Given the description of an element on the screen output the (x, y) to click on. 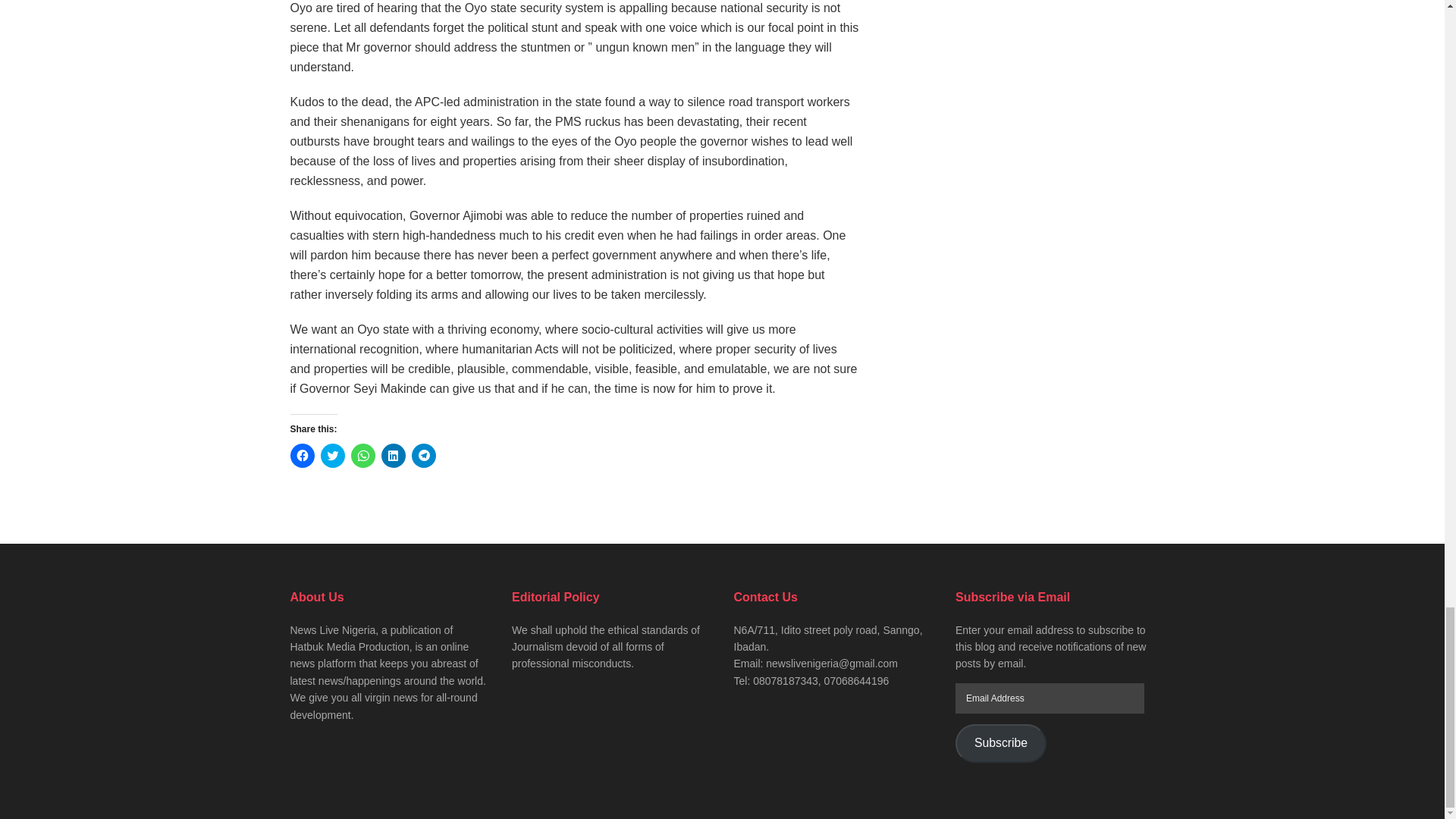
Click to share on LinkedIn (392, 455)
Click to share on WhatsApp (362, 455)
Click to share on Telegram (422, 455)
Click to share on Twitter (331, 455)
Click to share on Facebook (301, 455)
